Given the description of an element on the screen output the (x, y) to click on. 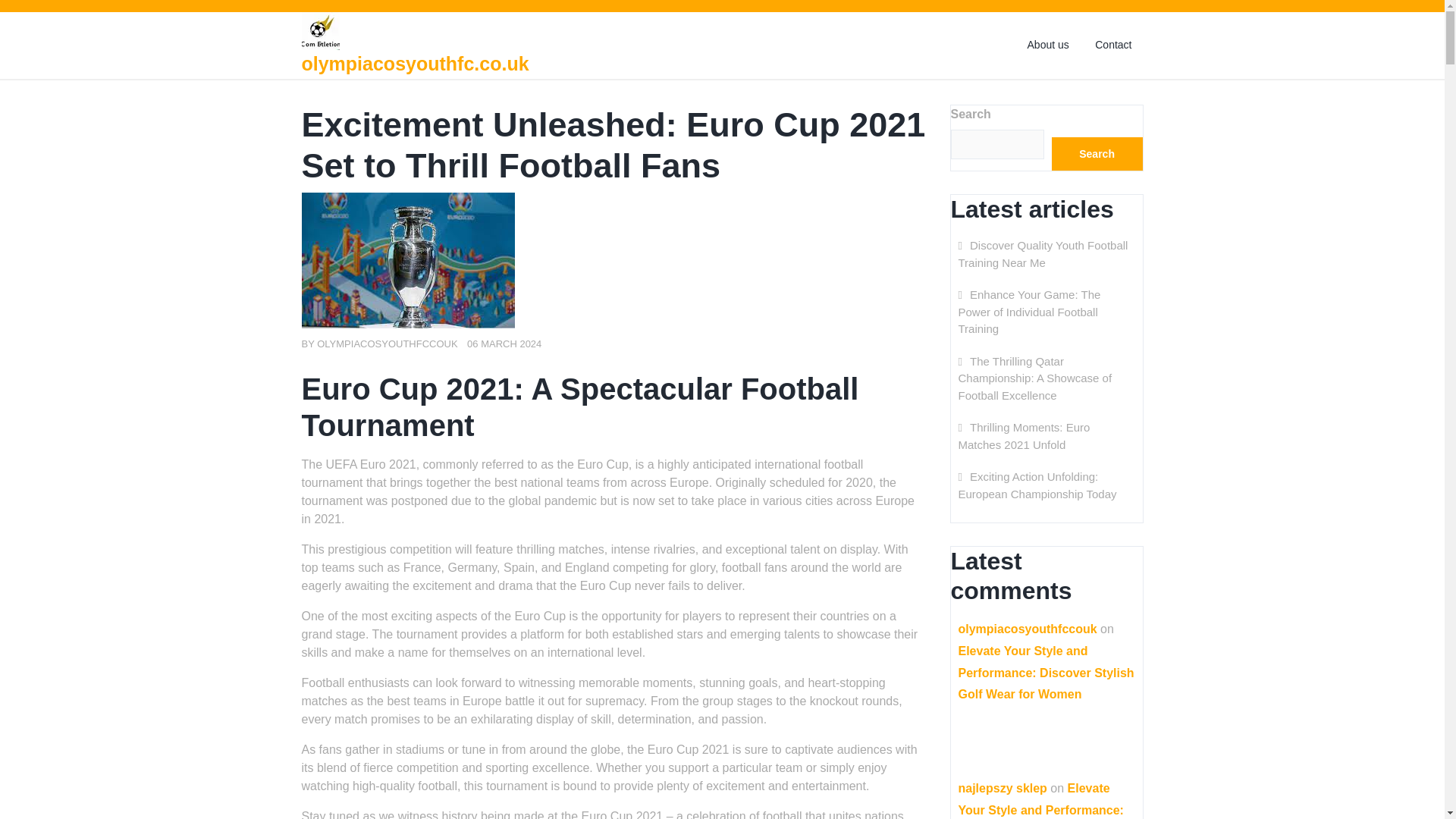
olympiacosyouthfc.co.uk (415, 63)
About us (1048, 44)
OLYMPIACOSYOUTHFCCOUK (387, 343)
Contact (1112, 44)
